Given the description of an element on the screen output the (x, y) to click on. 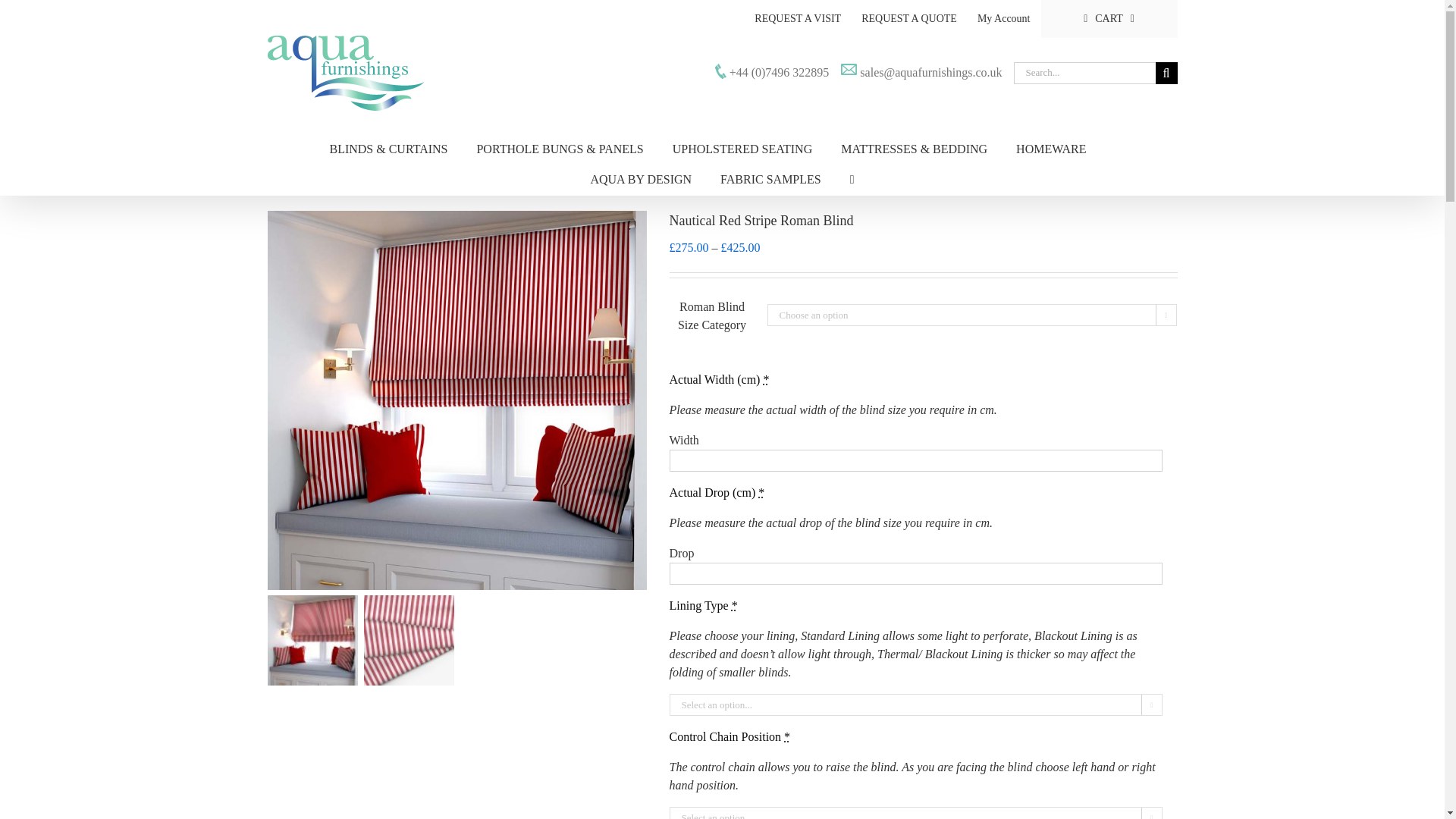
My Account (1004, 18)
Please enter letters or digits only (914, 573)
HOMEWARE (1051, 149)
CART (1108, 18)
REQUEST A QUOTE (908, 18)
UPHOLSTERED SEATING (742, 149)
Please enter letters or digits only (914, 460)
REQUEST A VISIT (797, 18)
Log In (1057, 149)
